Given the description of an element on the screen output the (x, y) to click on. 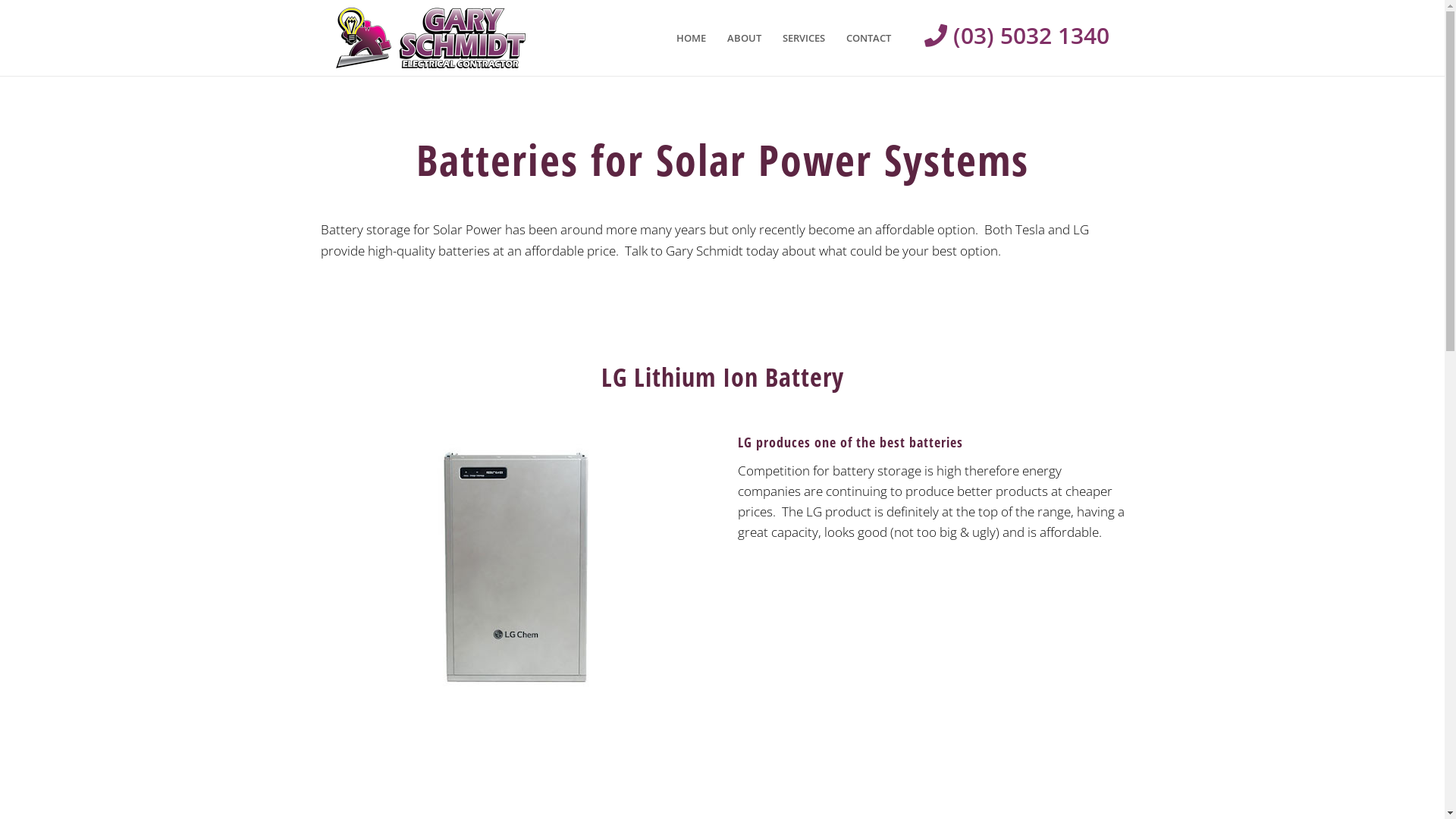
HOME Element type: text (690, 37)
CONTACT Element type: text (868, 37)
LG Battery Element type: hover (514, 569)
(03) 5032 1340 Element type: text (1004, 35)
SERVICES Element type: text (803, 37)
ABOUT Element type: text (743, 37)
